Given the description of an element on the screen output the (x, y) to click on. 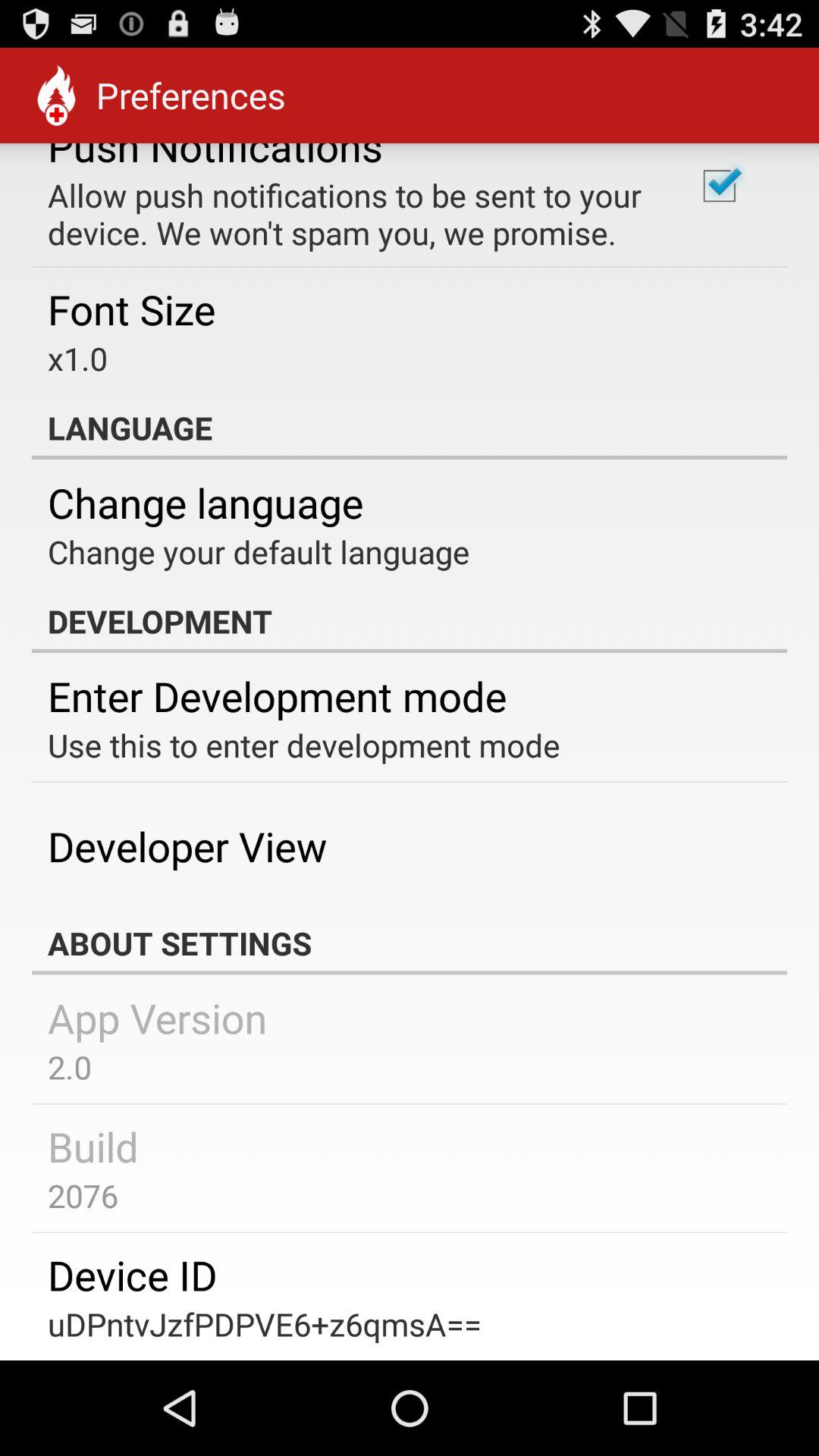
scroll until the use this to icon (303, 744)
